Given the description of an element on the screen output the (x, y) to click on. 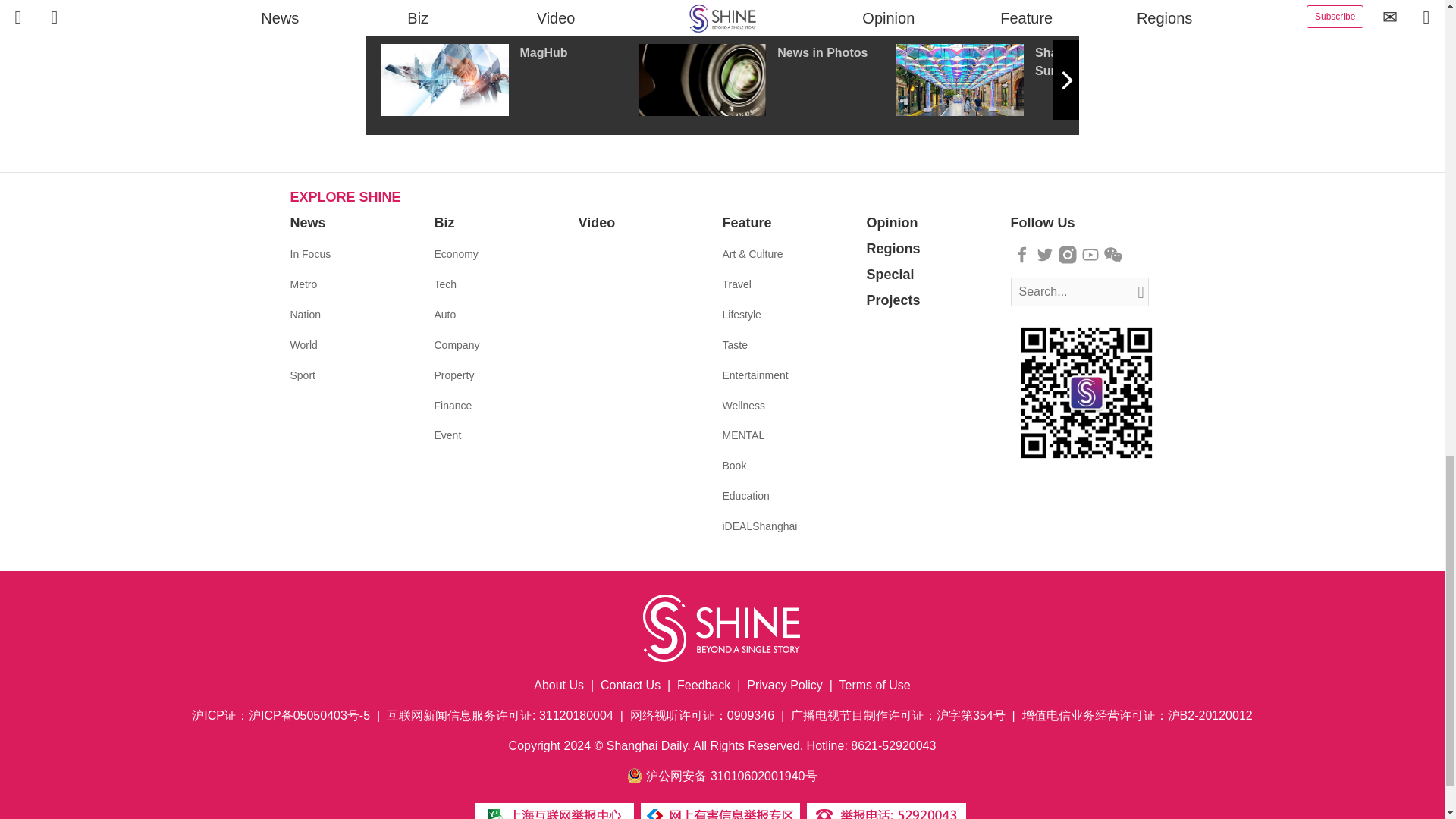
Follow us on Wechat (1112, 254)
Follow us on Facebook (1021, 254)
Follow us on Twitter (1044, 254)
Shanghai Summer (1024, 79)
Follow us on Instagram (1067, 254)
Special Reports (721, 9)
MagHub (508, 79)
Follow us on Youtube (1090, 254)
News in Photos (767, 79)
